Given the description of an element on the screen output the (x, y) to click on. 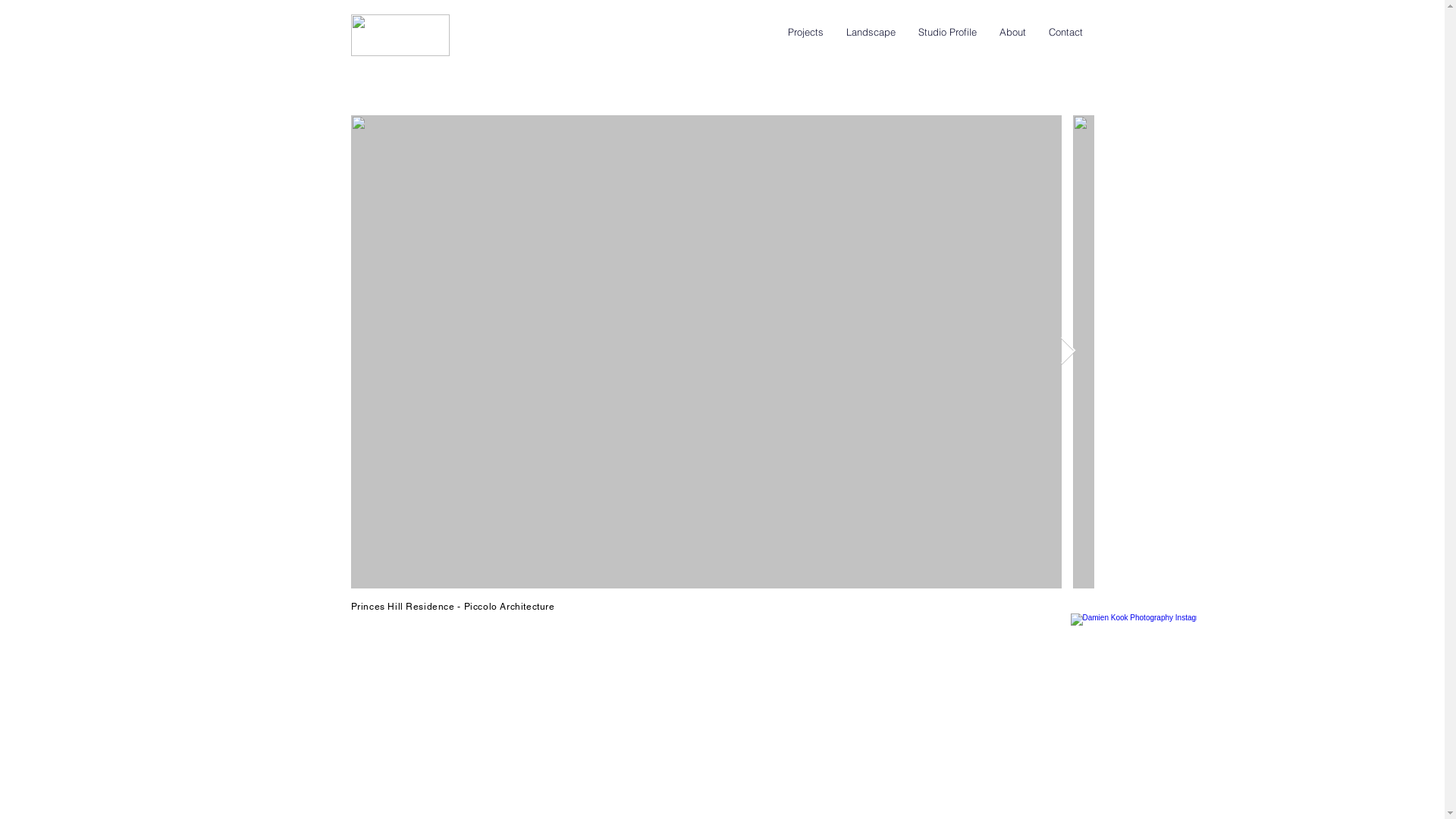
Contact Element type: text (1065, 32)
Studio Profile Element type: text (947, 32)
About Element type: text (1011, 32)
Landscape Element type: text (870, 32)
